Given the description of an element on the screen output the (x, y) to click on. 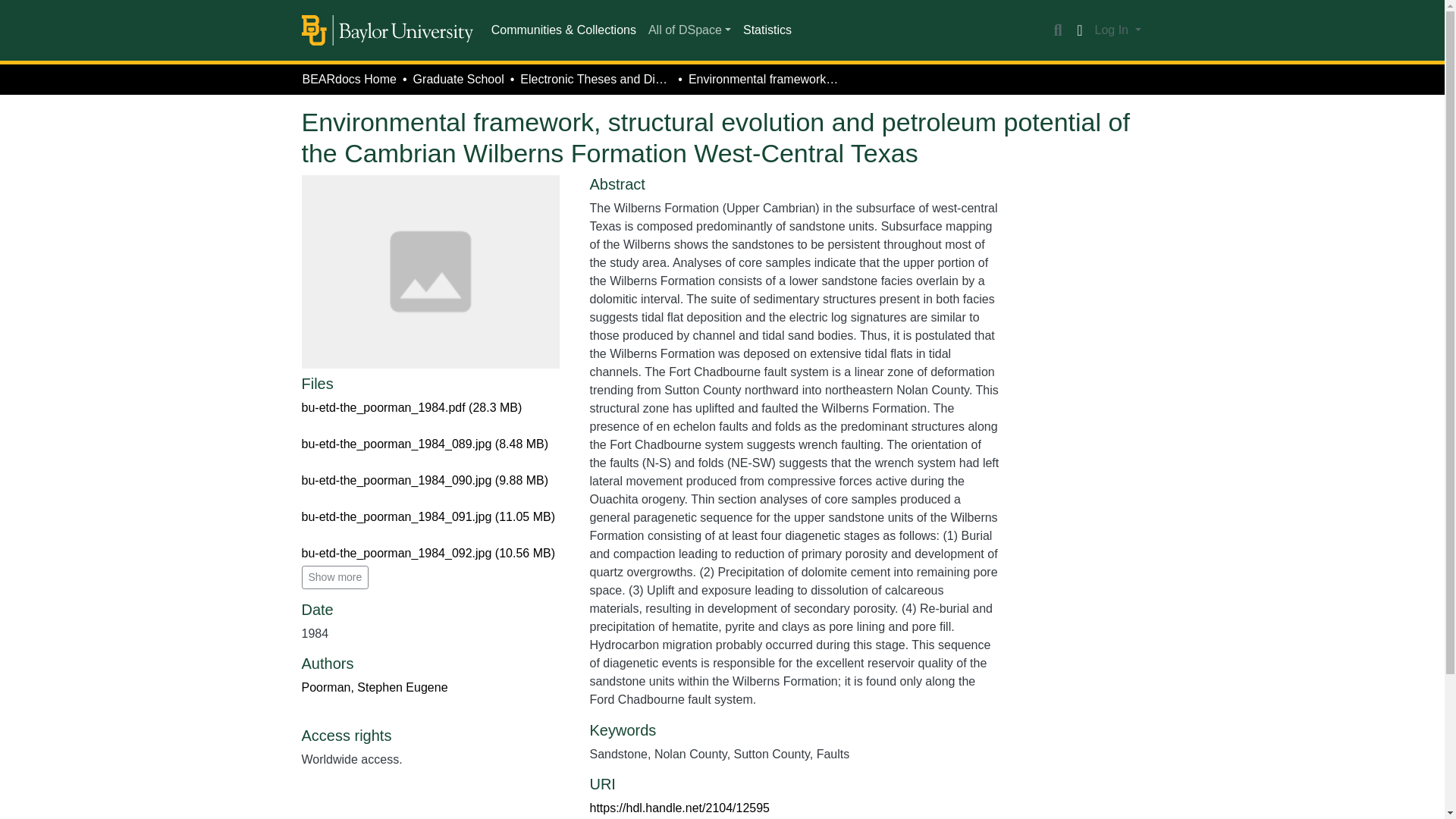
Log In (1117, 30)
Statistics (766, 30)
Electronic Theses and Dissertations (595, 79)
Language switch (1079, 30)
Search (1057, 30)
BEARdocs Home (348, 79)
Graduate School (458, 79)
Show more (335, 576)
All of DSpace (689, 30)
Statistics (766, 30)
